Given the description of an element on the screen output the (x, y) to click on. 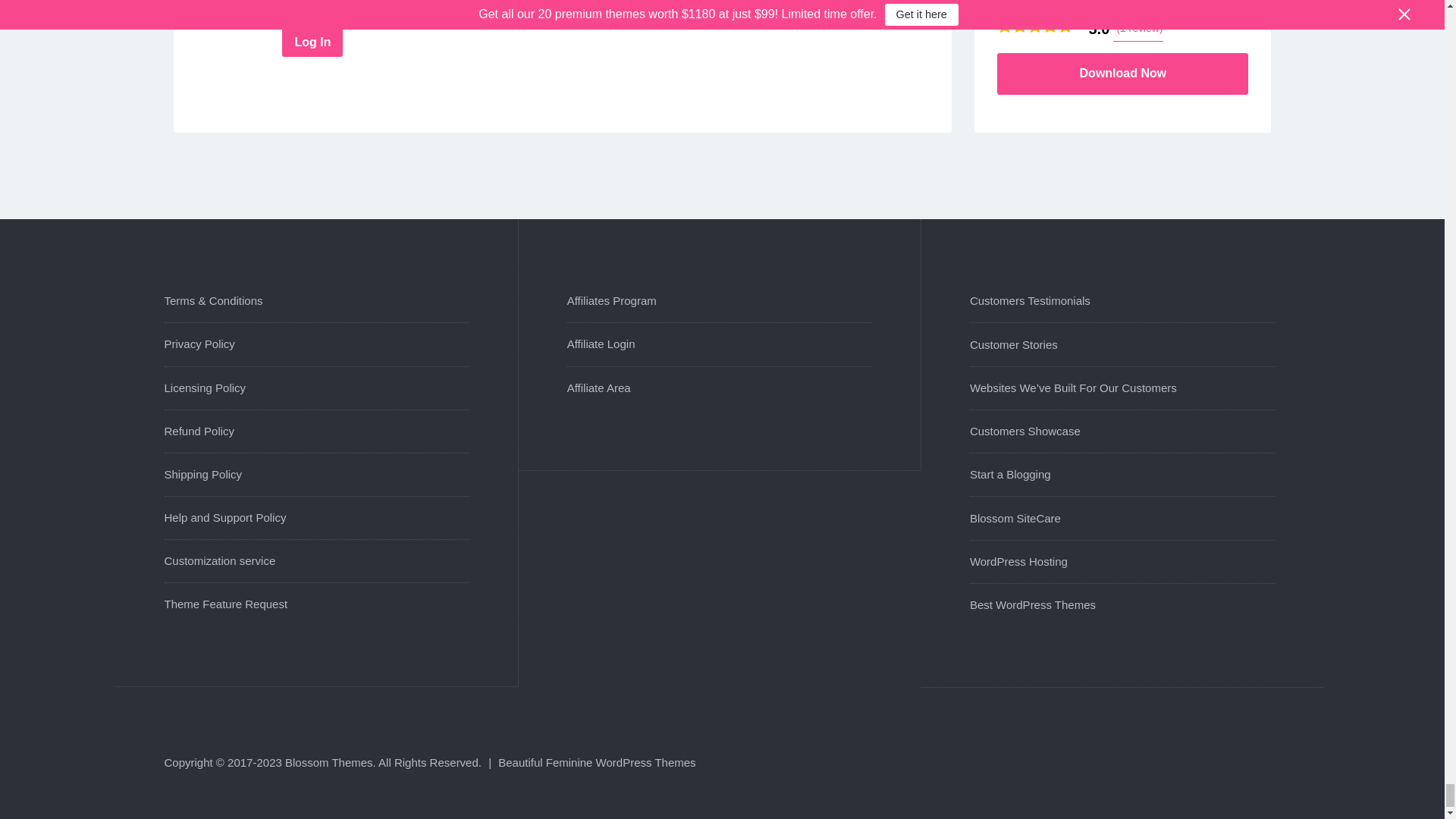
Log In (312, 41)
